Given the description of an element on the screen output the (x, y) to click on. 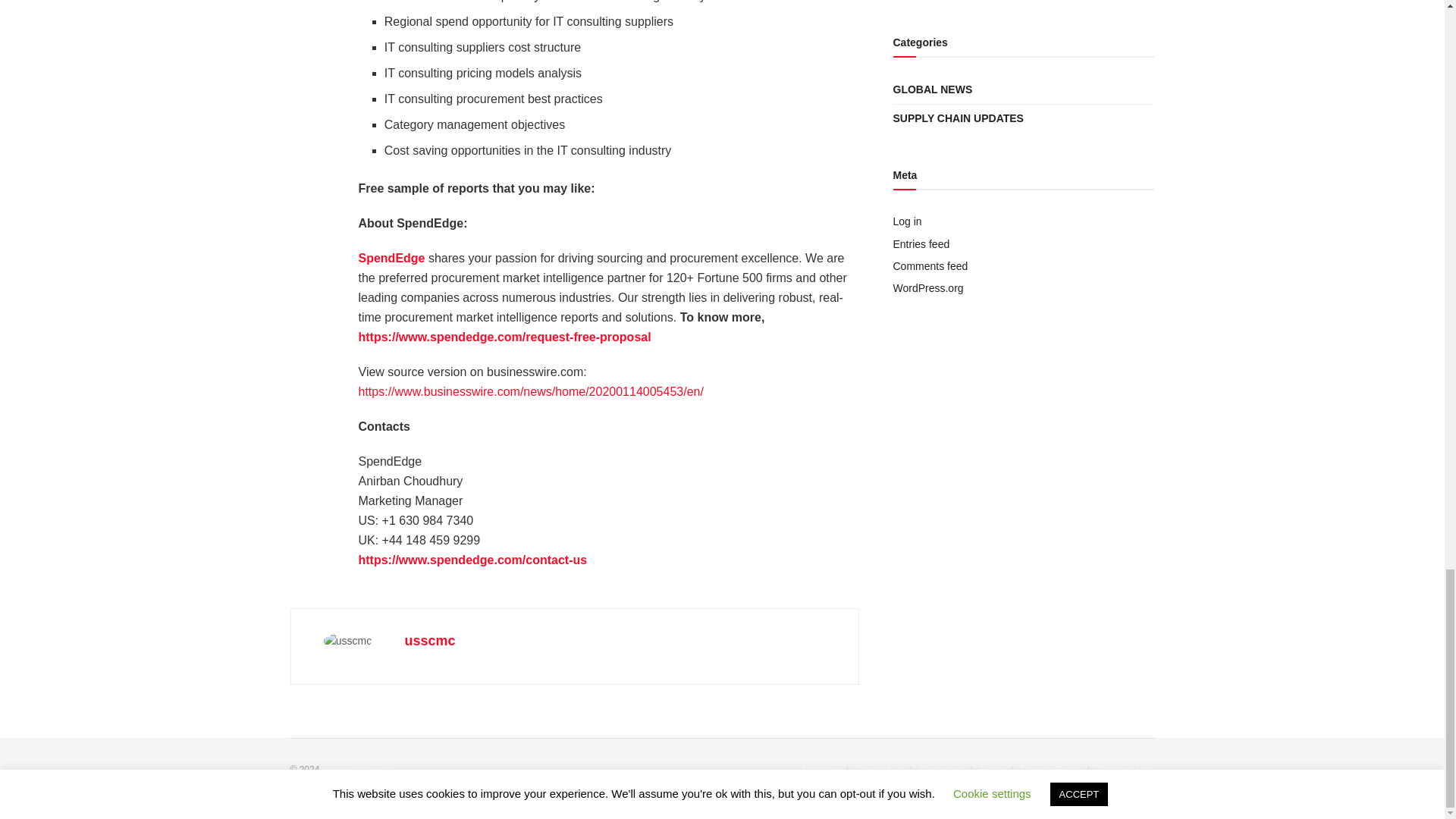
United States Supply Chain Management Council (357, 769)
usscmc (429, 640)
SpendEdge (391, 257)
